Given the description of an element on the screen output the (x, y) to click on. 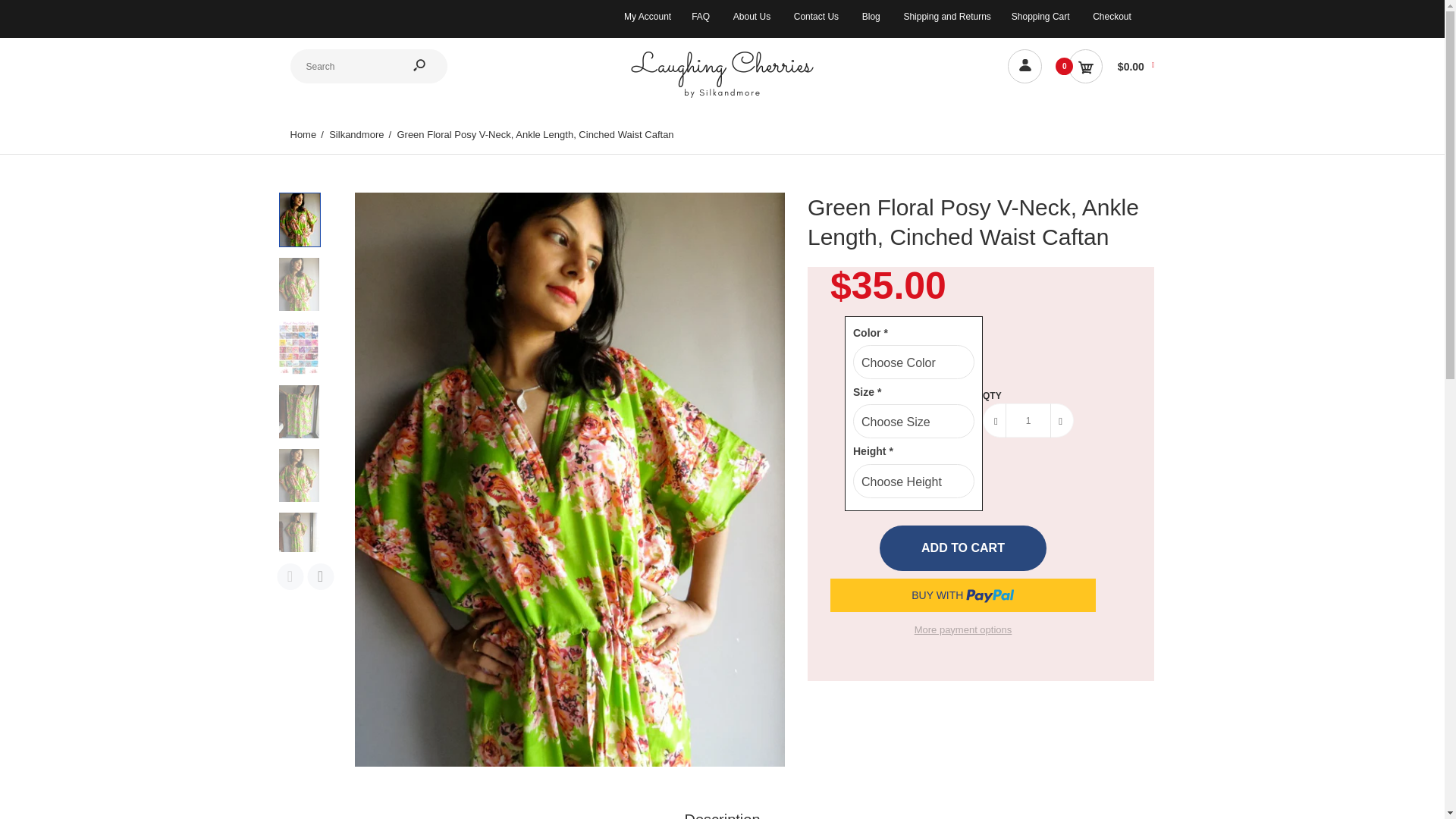
1 (1028, 420)
Laughing Cherries (721, 74)
Add to cart (962, 547)
Laughing Cherries (721, 95)
